Given the description of an element on the screen output the (x, y) to click on. 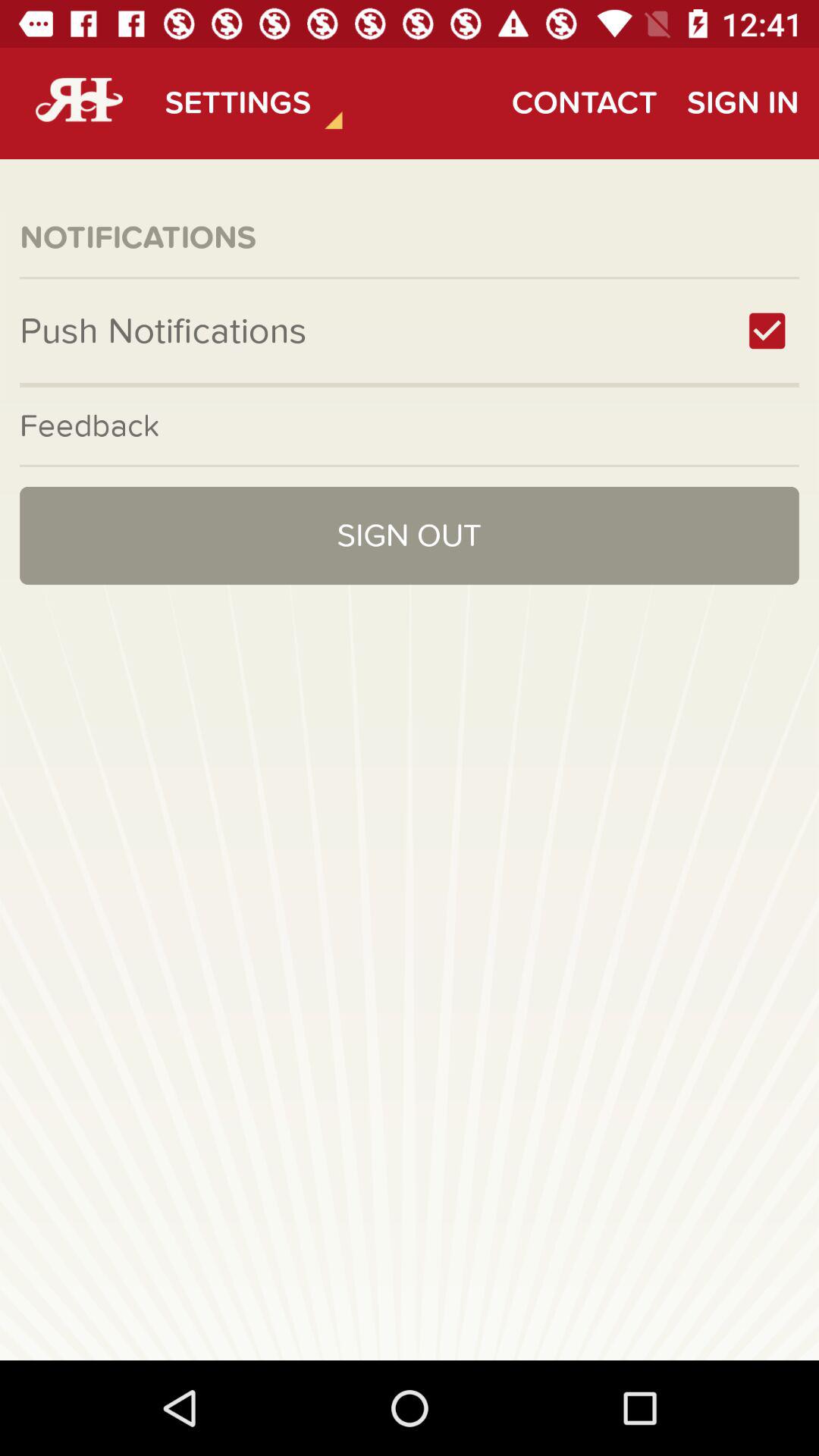
select the sign out icon (409, 535)
